Given the description of an element on the screen output the (x, y) to click on. 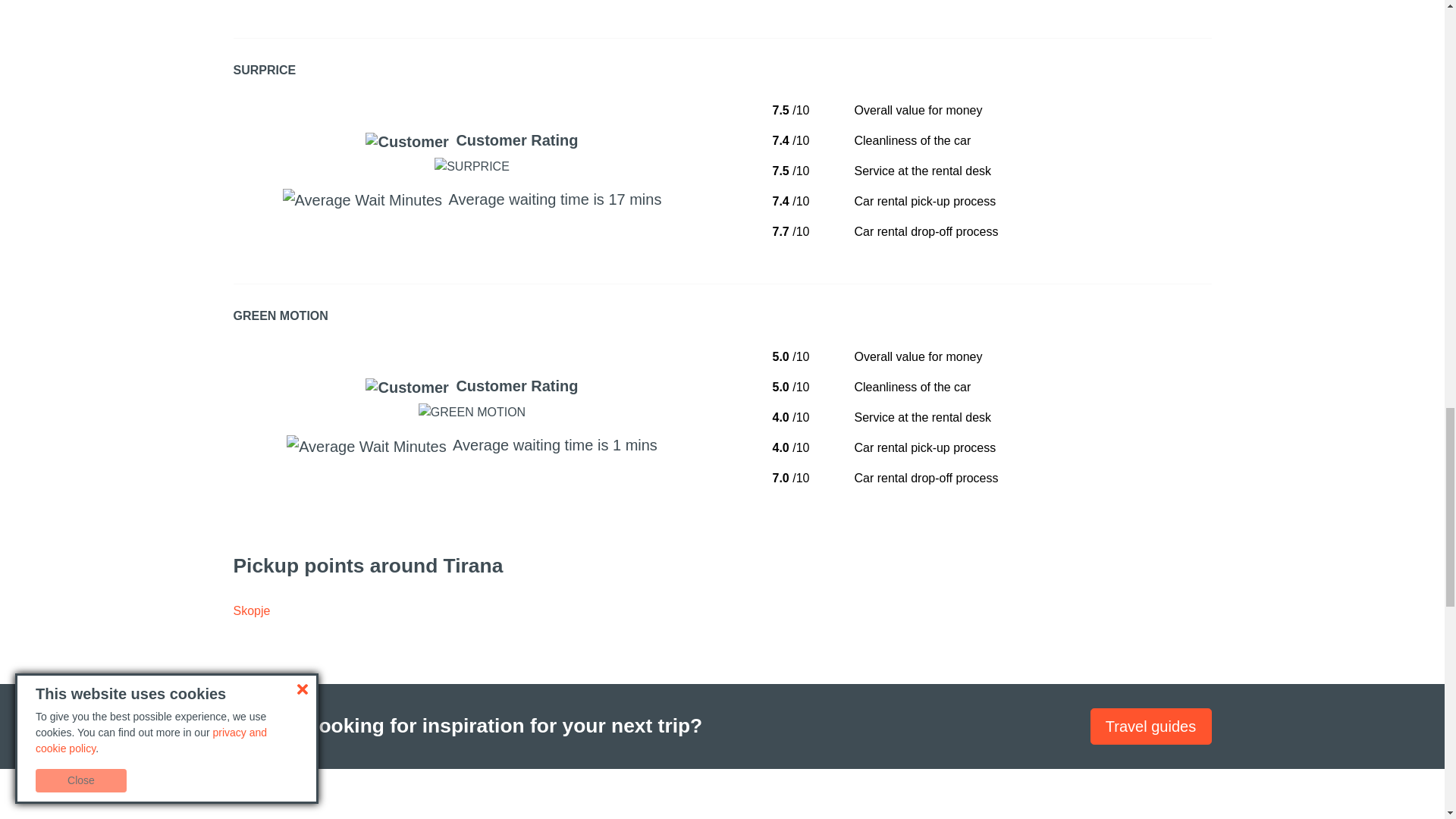
Skopje (251, 610)
Travel guides (1150, 726)
